Given the description of an element on the screen output the (x, y) to click on. 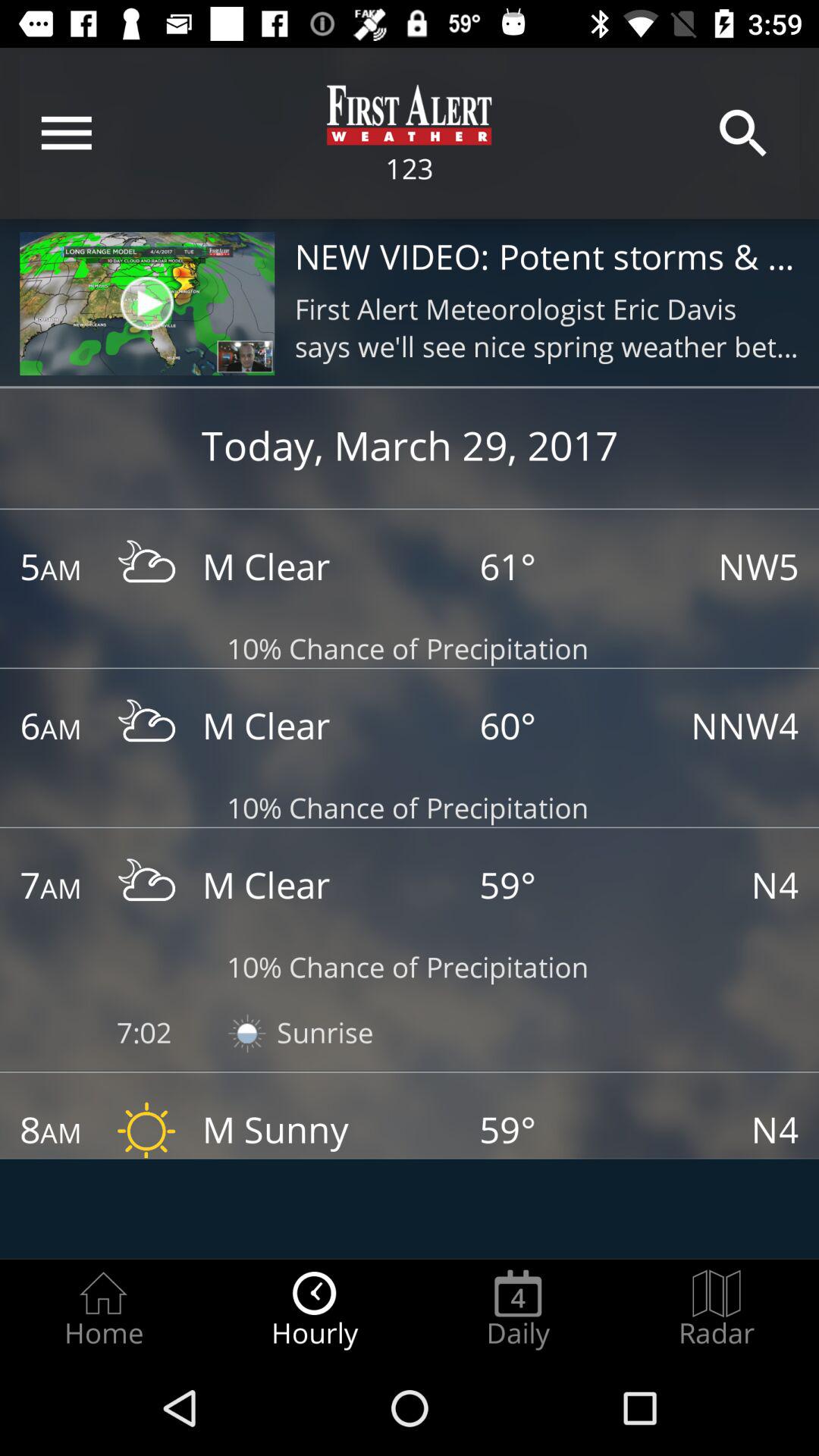
swipe until the home (103, 1309)
